Given the description of an element on the screen output the (x, y) to click on. 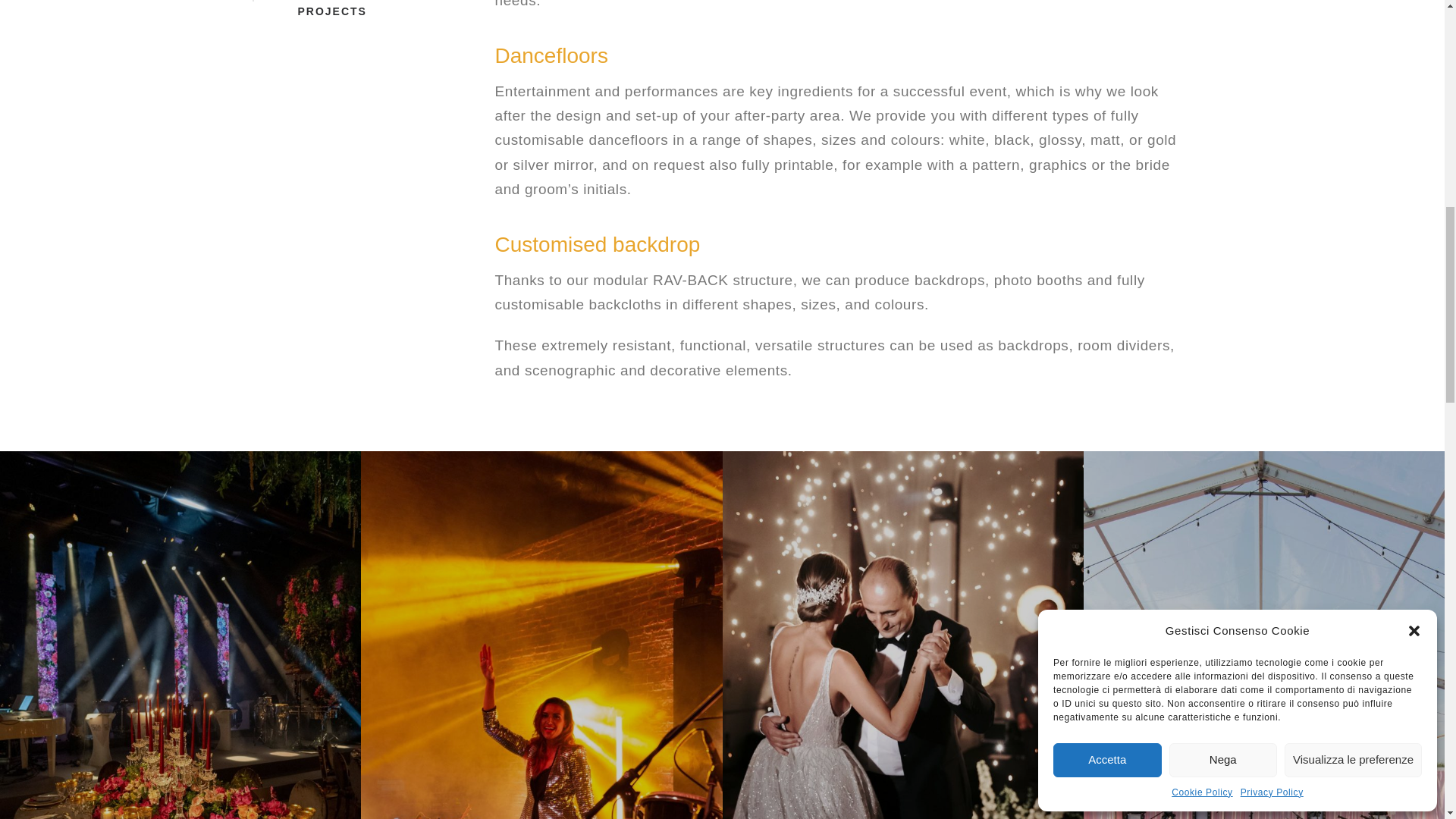
RAVA noleggio dance floor per matrimoni (541, 635)
RAVA palchi per eventi (180, 635)
RAVA allestimenti tecnici per eventi privati (902, 635)
